Given the description of an element on the screen output the (x, y) to click on. 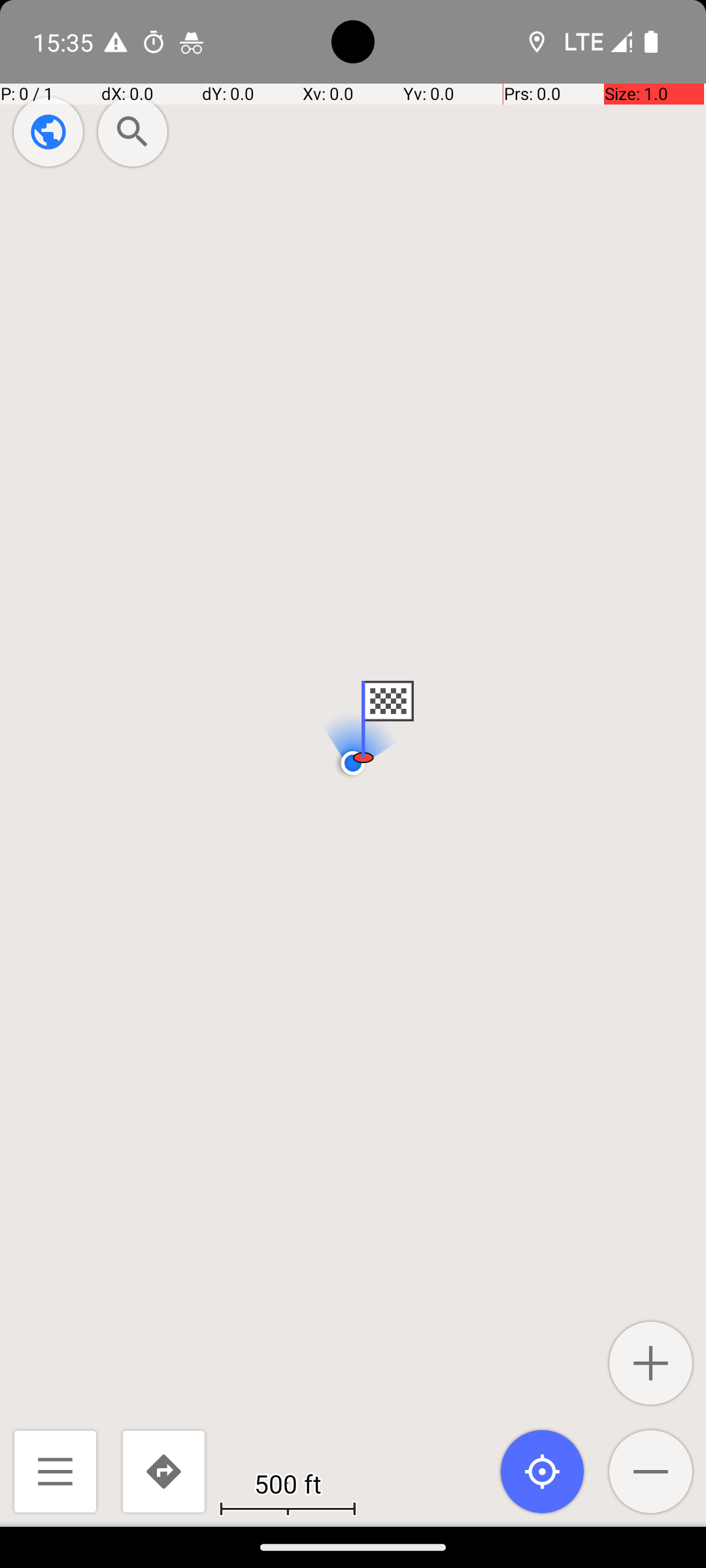
500 ft Element type: android.widget.TextView (287, 1483)
Where am I Element type: android.widget.ImageButton (542, 1471)
